Given the description of an element on the screen output the (x, y) to click on. 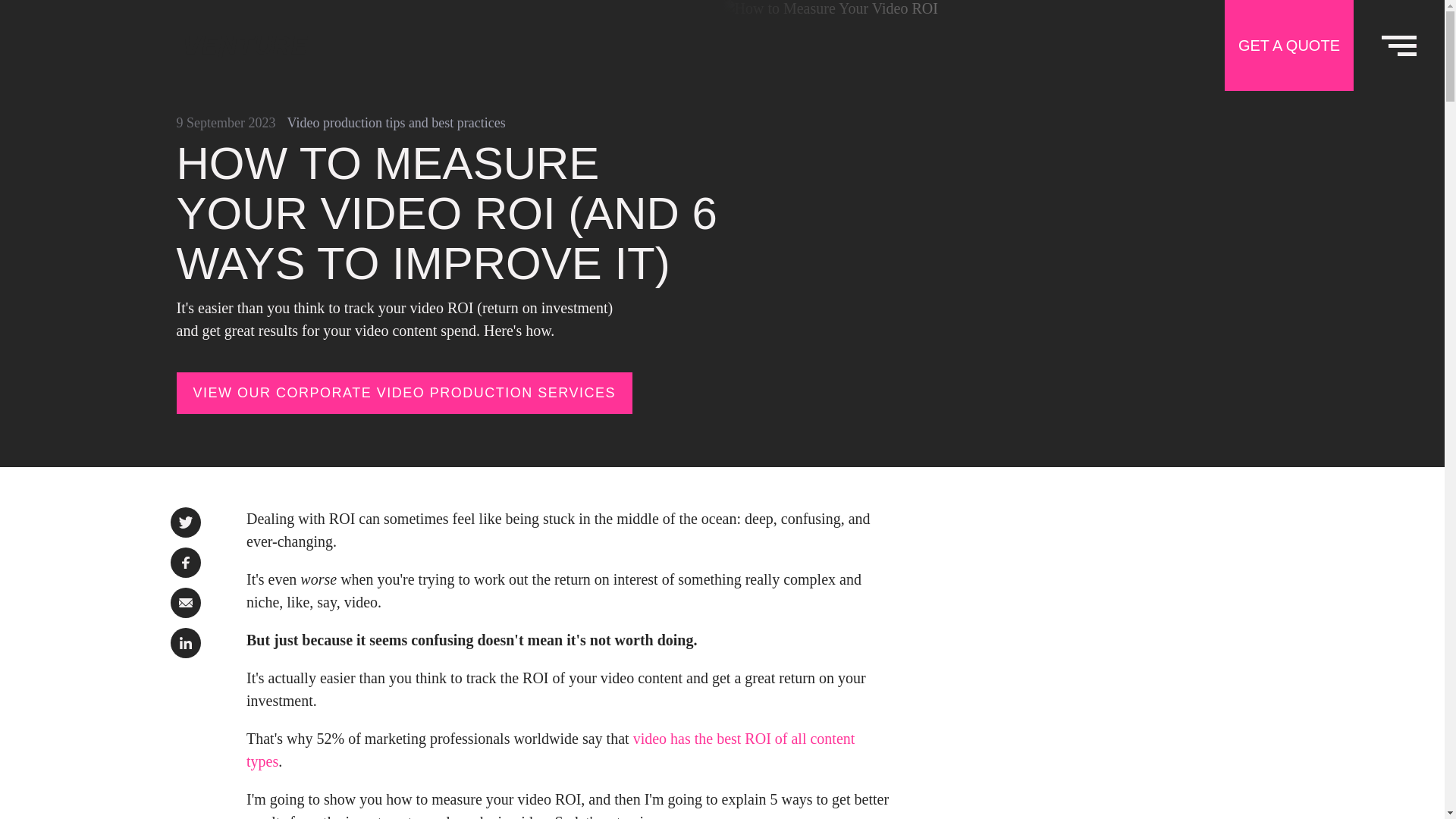
GET A QUOTE (1289, 45)
video has the best ROI of all content types (550, 749)
Video production tips and best practices (395, 123)
VIEW OUR CORPORATE VIDEO PRODUCTION SERVICES (403, 393)
